Given the description of an element on the screen output the (x, y) to click on. 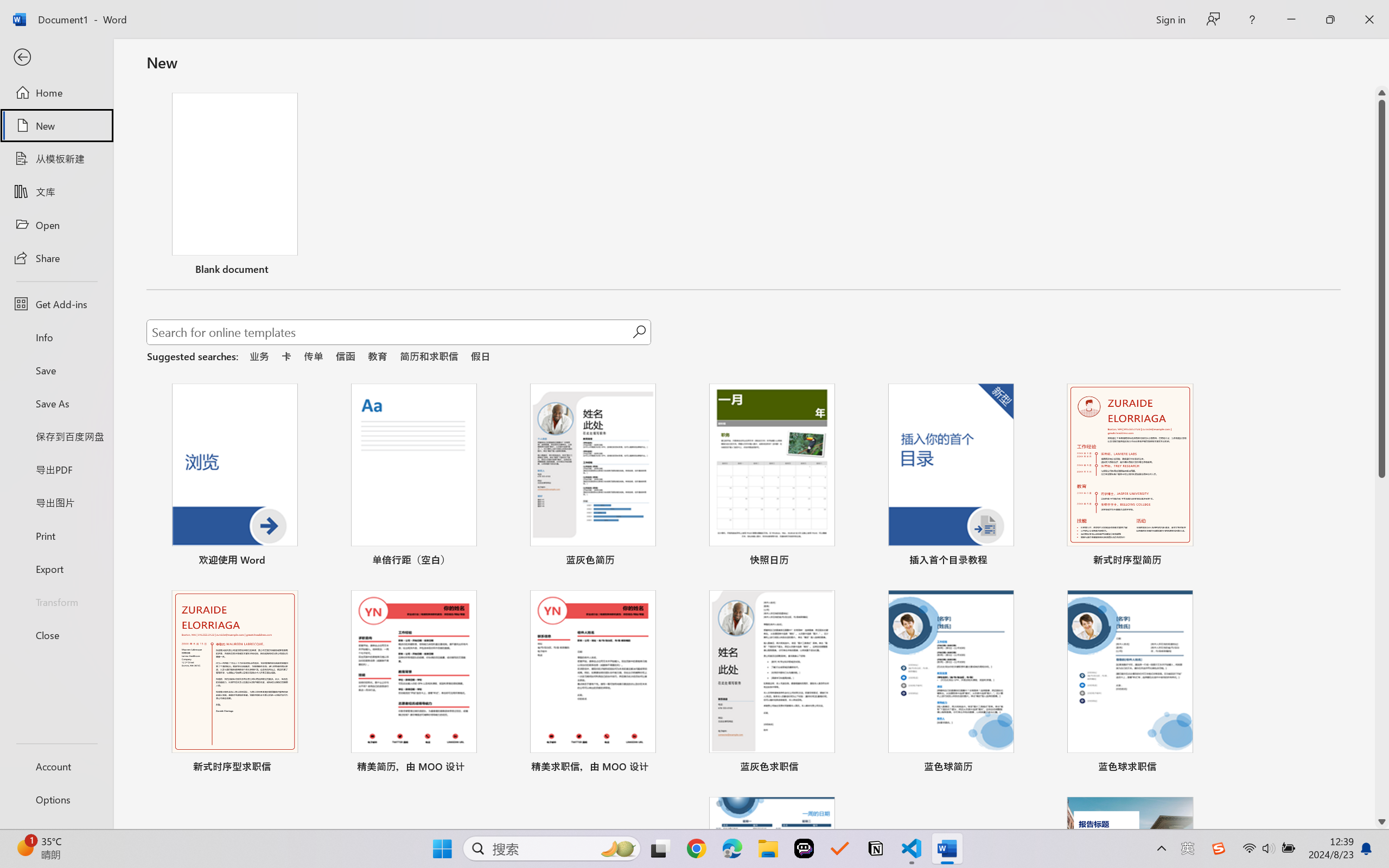
Transform (56, 601)
New (56, 125)
Info (56, 337)
Blank document (234, 185)
Get Add-ins (56, 303)
Print (56, 535)
